Given the description of an element on the screen output the (x, y) to click on. 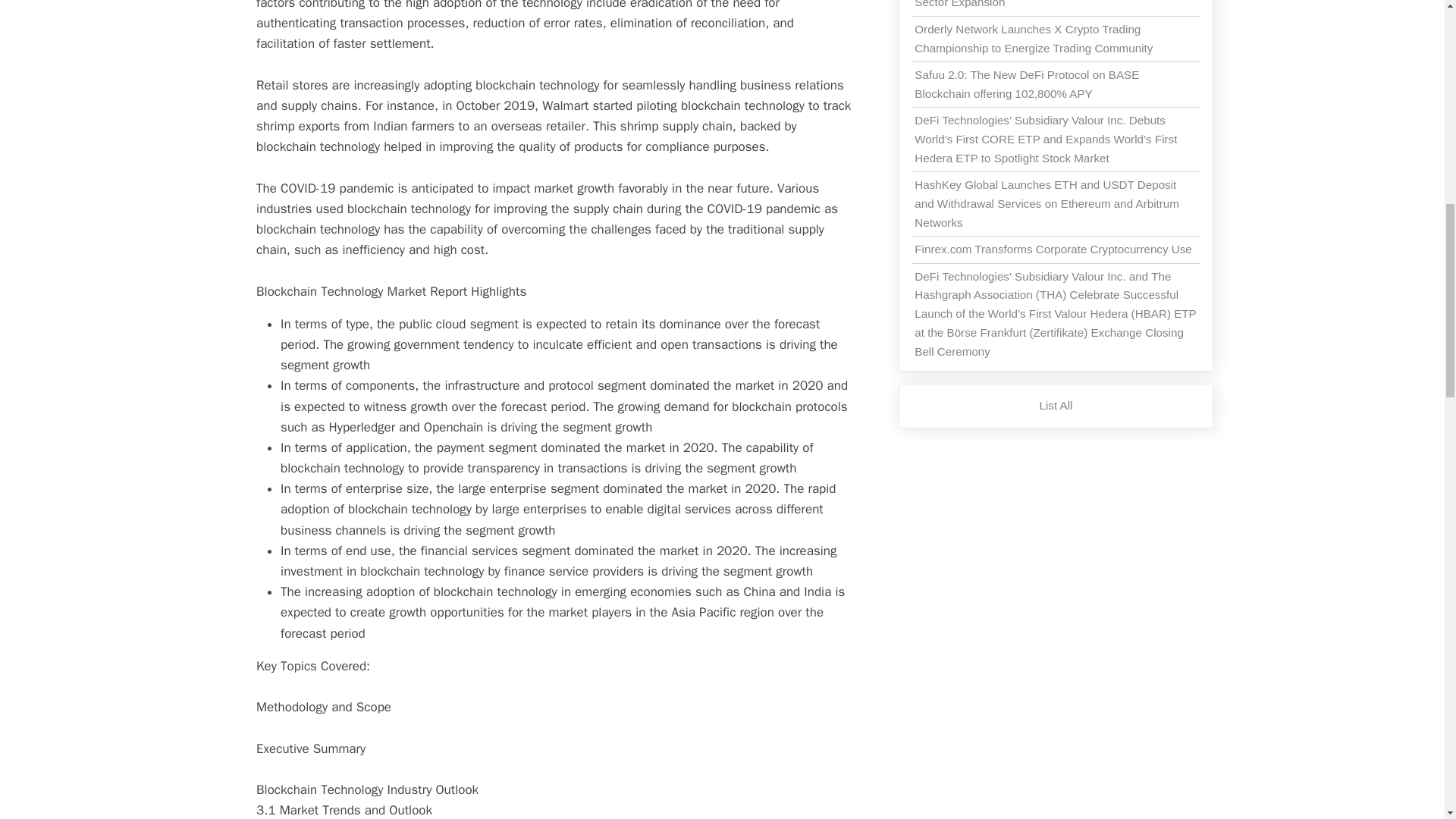
Finrex.com Transforms Corporate Cryptocurrency Use (1052, 248)
List All (1056, 404)
